Given the description of an element on the screen output the (x, y) to click on. 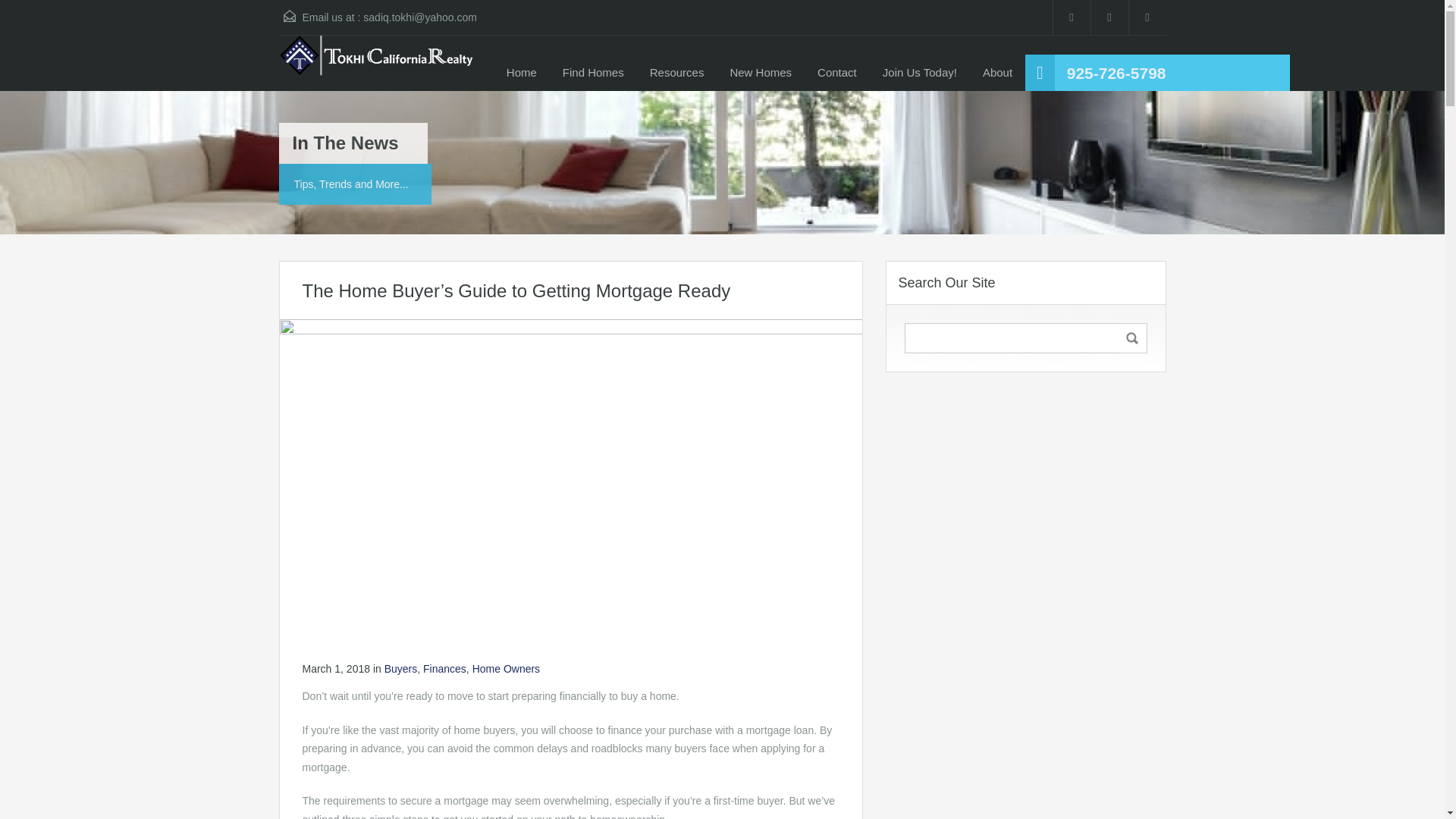
925-726-5798 (1116, 73)
Tokhi Cal Realty (377, 63)
Search (1132, 337)
Resources (677, 72)
Home (521, 72)
Make a Call (1116, 73)
Find Homes (593, 72)
